Given the description of an element on the screen output the (x, y) to click on. 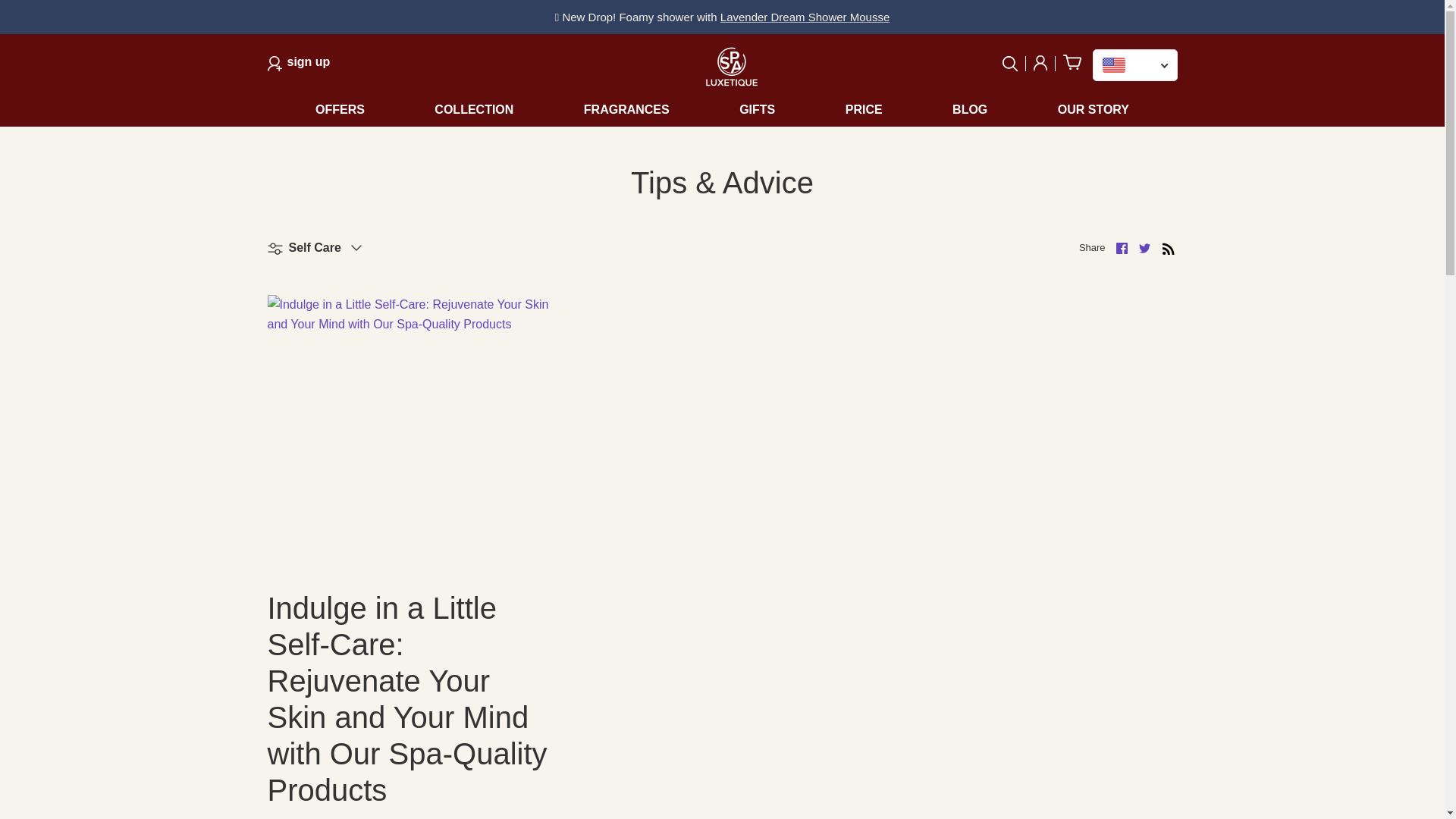
Search (1014, 63)
Lavender Dream Shower Mousse (804, 16)
Twitter (1144, 247)
GIFTS (757, 109)
Account (1040, 63)
Facebook (1121, 247)
RSS (1167, 248)
OFFERS (356, 109)
COLLECTION (474, 109)
FRAGRANCES (626, 109)
Cart (298, 63)
Lavender Dream Shower Mousse (1068, 63)
SPA Luxetique (804, 16)
